Given the description of an element on the screen output the (x, y) to click on. 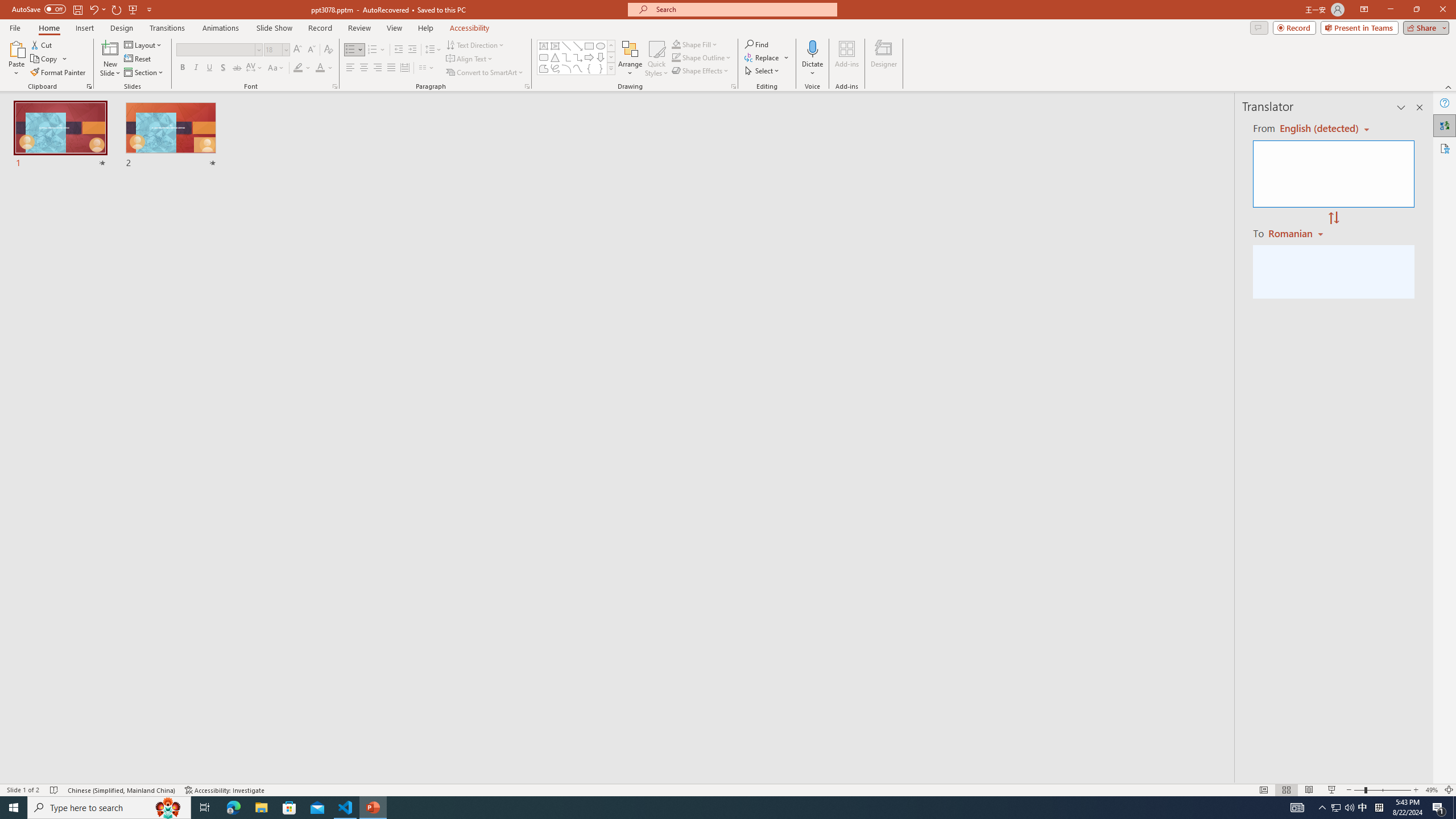
Romanian (1296, 232)
